Given the description of an element on the screen output the (x, y) to click on. 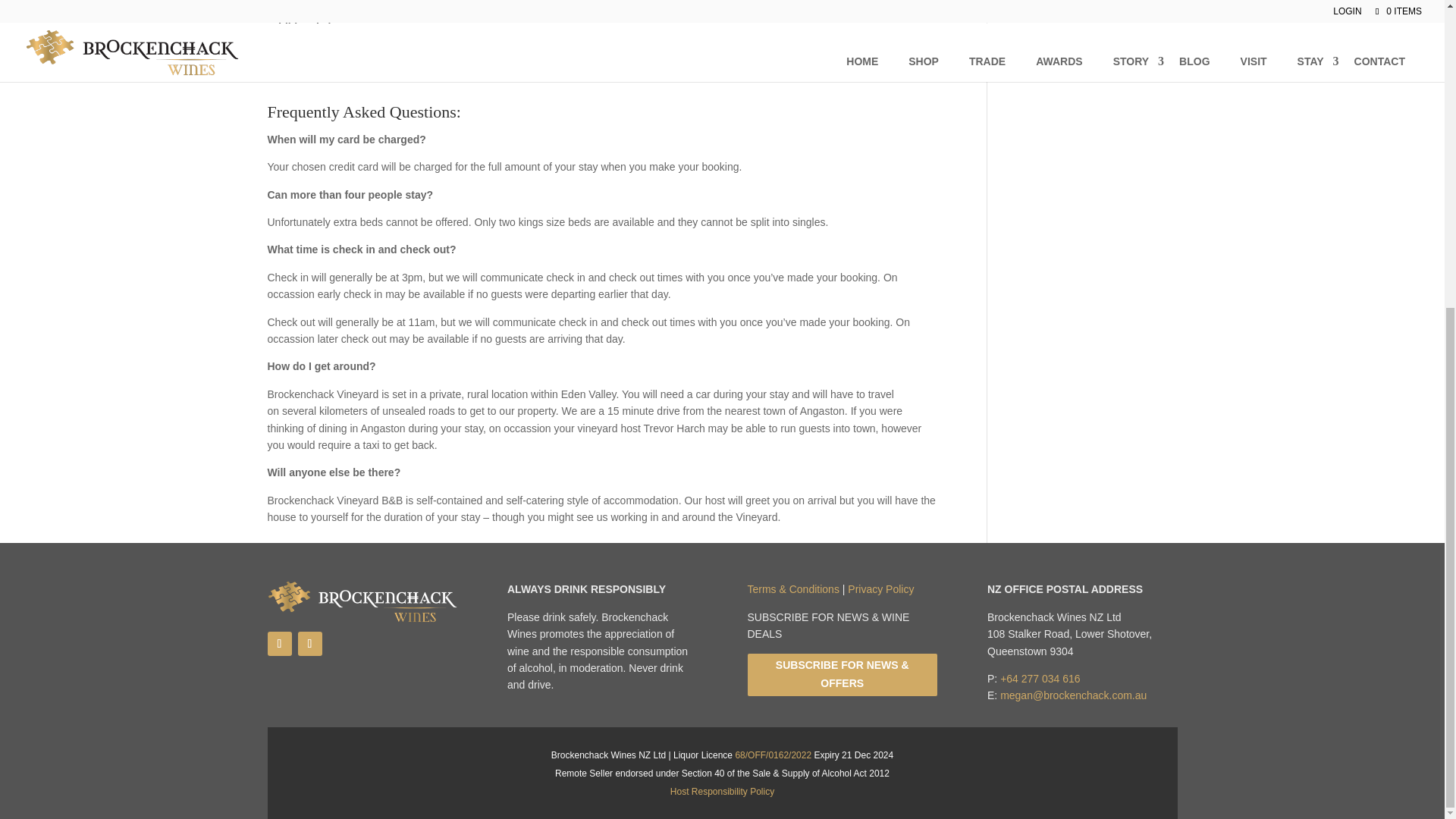
Privacy Policy (880, 589)
Follow on Facebook (278, 643)
Follow on Instagram (309, 643)
